Given the description of an element on the screen output the (x, y) to click on. 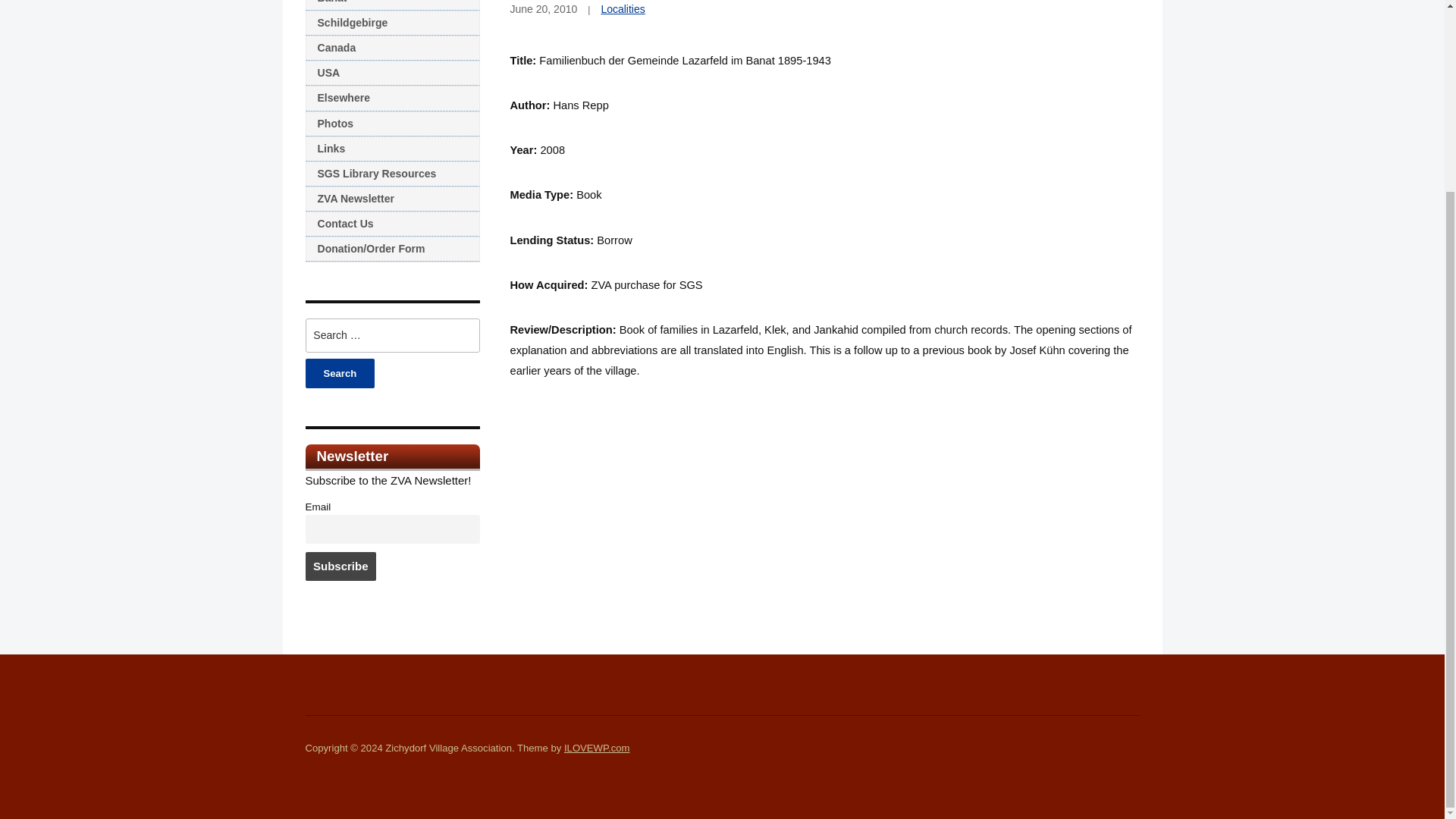
USA (391, 72)
Subscribe (339, 566)
ILOVEWP.com (596, 747)
Links (391, 148)
Elsewhere (391, 97)
Search (339, 373)
Banat (391, 5)
ZVA Newsletter (391, 198)
Schildgebirge (391, 23)
Search (339, 373)
